Given the description of an element on the screen output the (x, y) to click on. 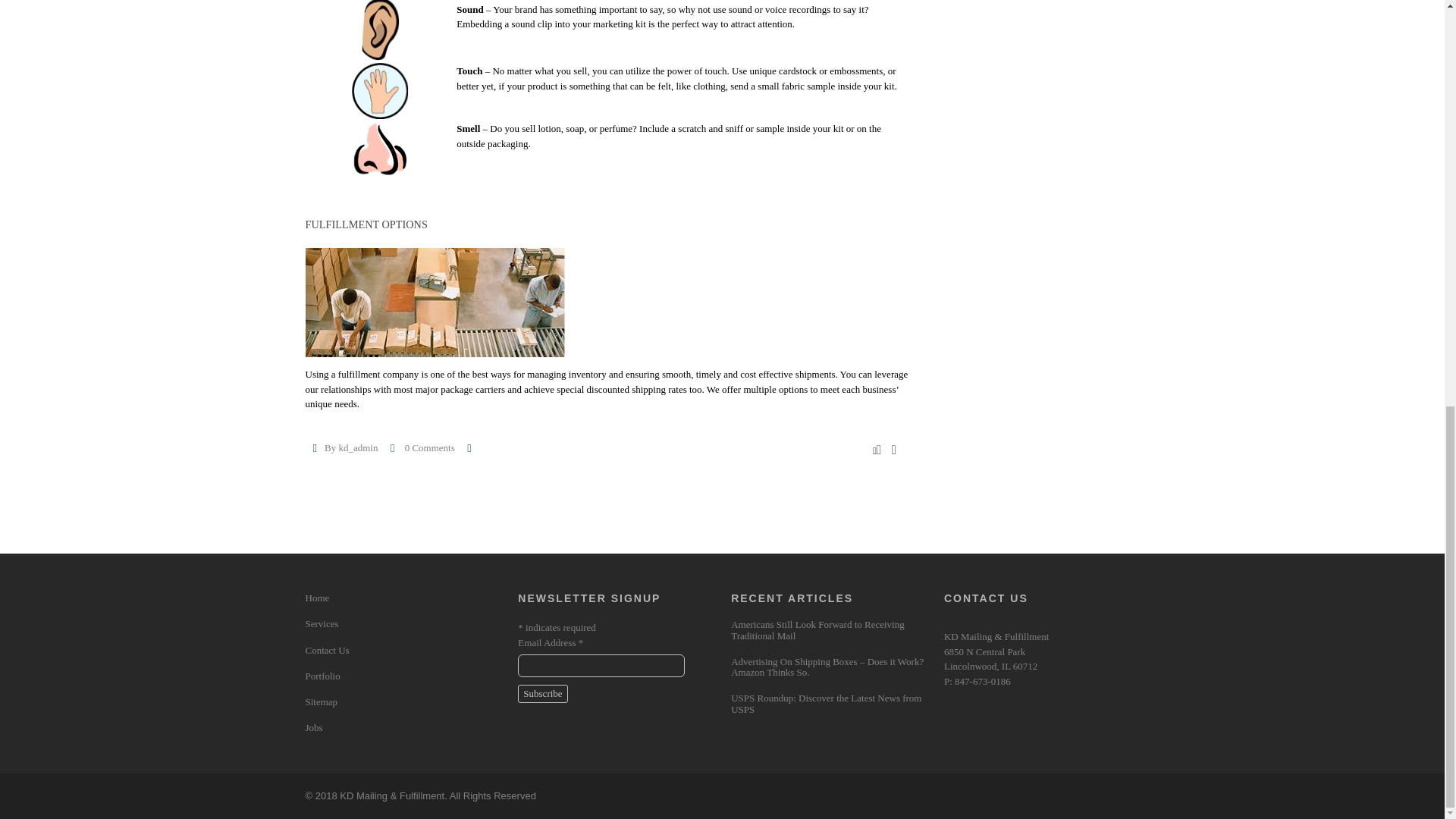
Subscribe (542, 693)
